Given the description of an element on the screen output the (x, y) to click on. 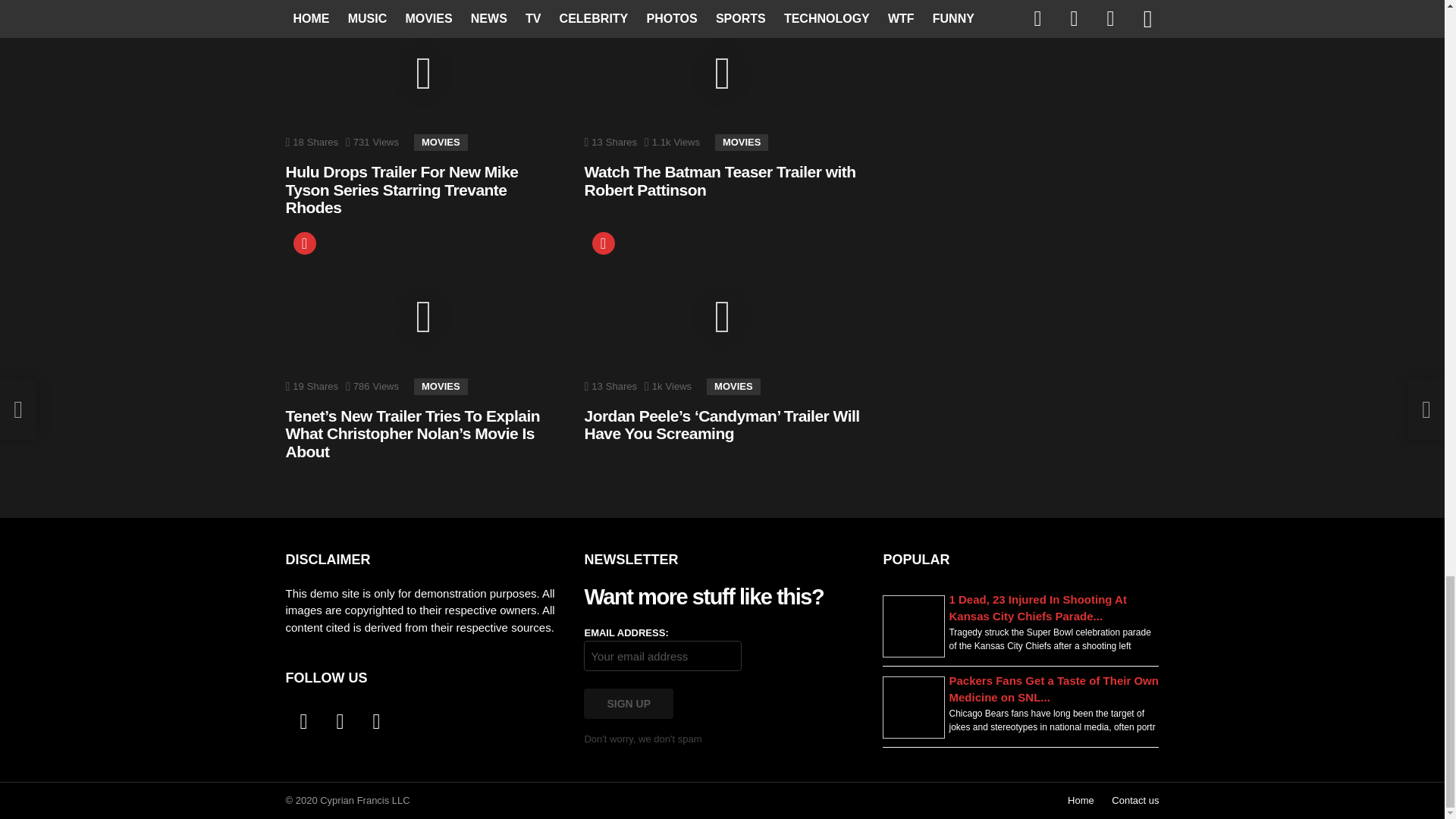
Hot (303, 242)
Hot (303, 242)
Hot (303, 5)
Popular (602, 242)
Popular (602, 242)
MOVIES (741, 142)
MOVIES (440, 386)
Hot (602, 5)
Watch The Batman Teaser Trailer with Robert Pattinson (719, 180)
Hot (303, 5)
MOVIES (440, 142)
Hot (602, 5)
MOVIES (733, 386)
Sign up (627, 703)
